Given the description of an element on the screen output the (x, y) to click on. 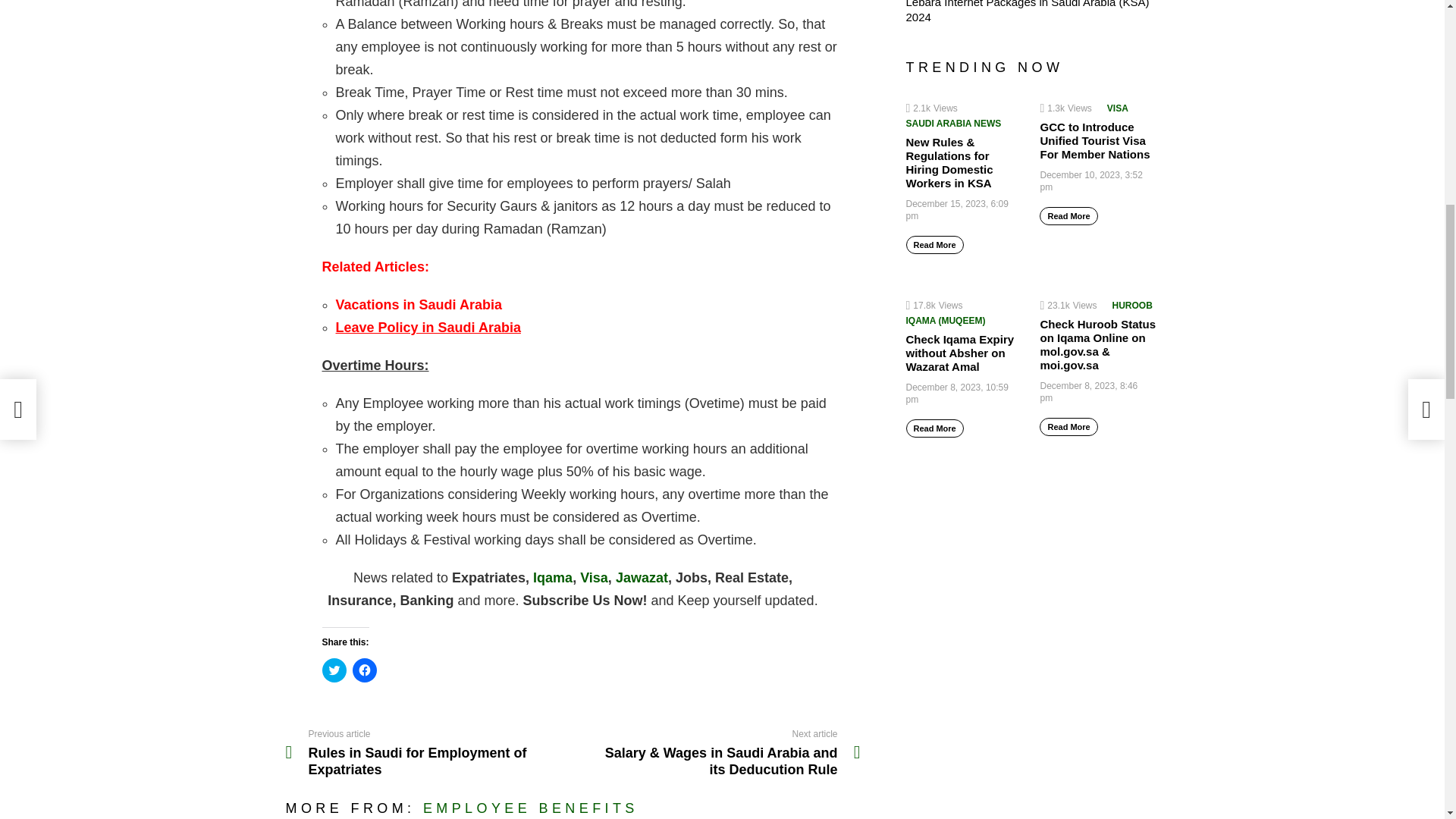
Click to share on Facebook (363, 670)
EMPLOYEE BENEFITS (531, 807)
Click to share on Twitter (333, 670)
Visa (593, 577)
Jawazat (641, 577)
Leave Policy in Saudi Arabia (426, 327)
Iqama (552, 577)
Vacations in Saudi Arabia (417, 304)
